Given the description of an element on the screen output the (x, y) to click on. 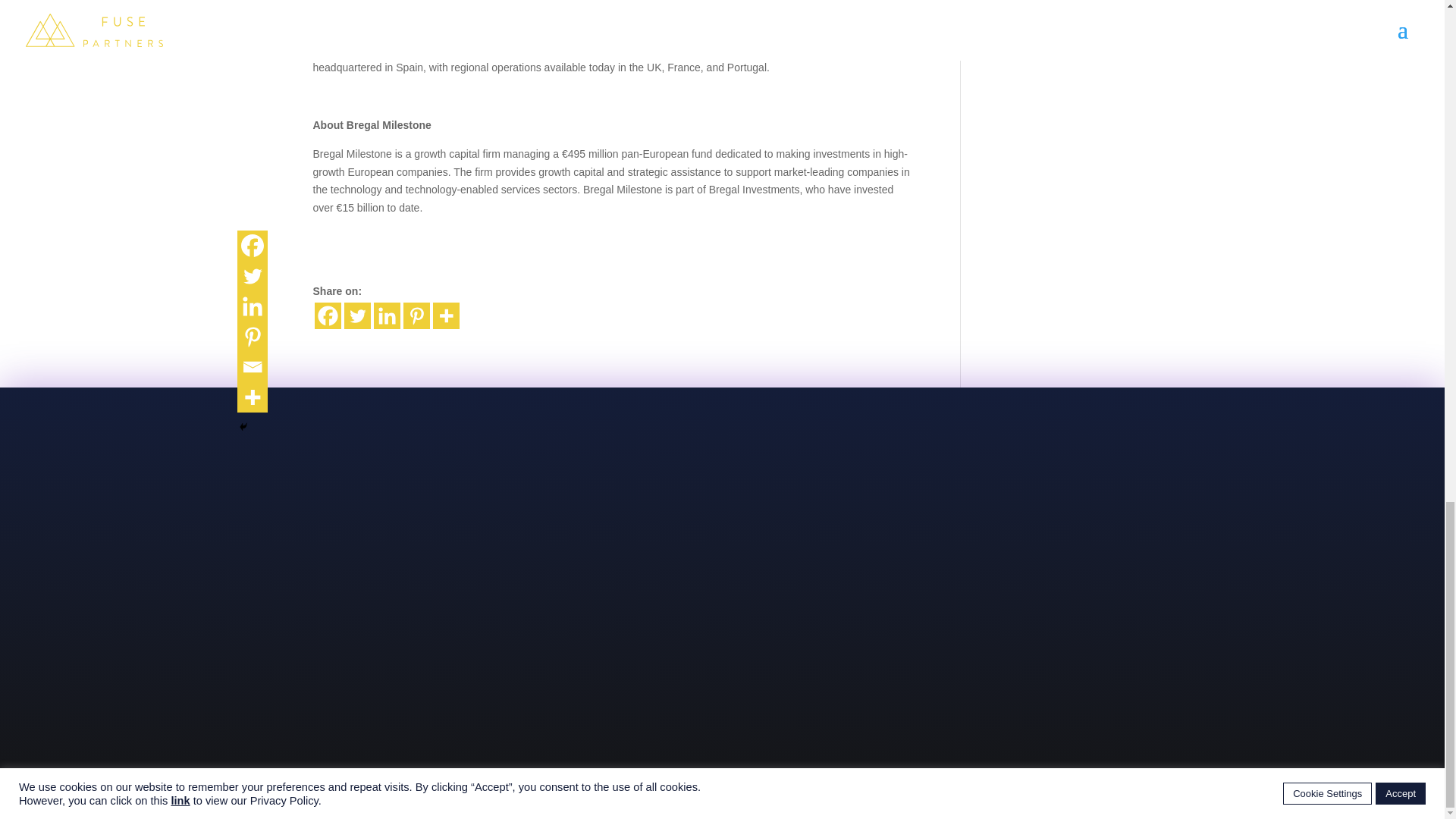
Pinterest (416, 315)
Linkedin (385, 315)
More (445, 315)
Facebook (327, 315)
Twitter (357, 315)
